Given the description of an element on the screen output the (x, y) to click on. 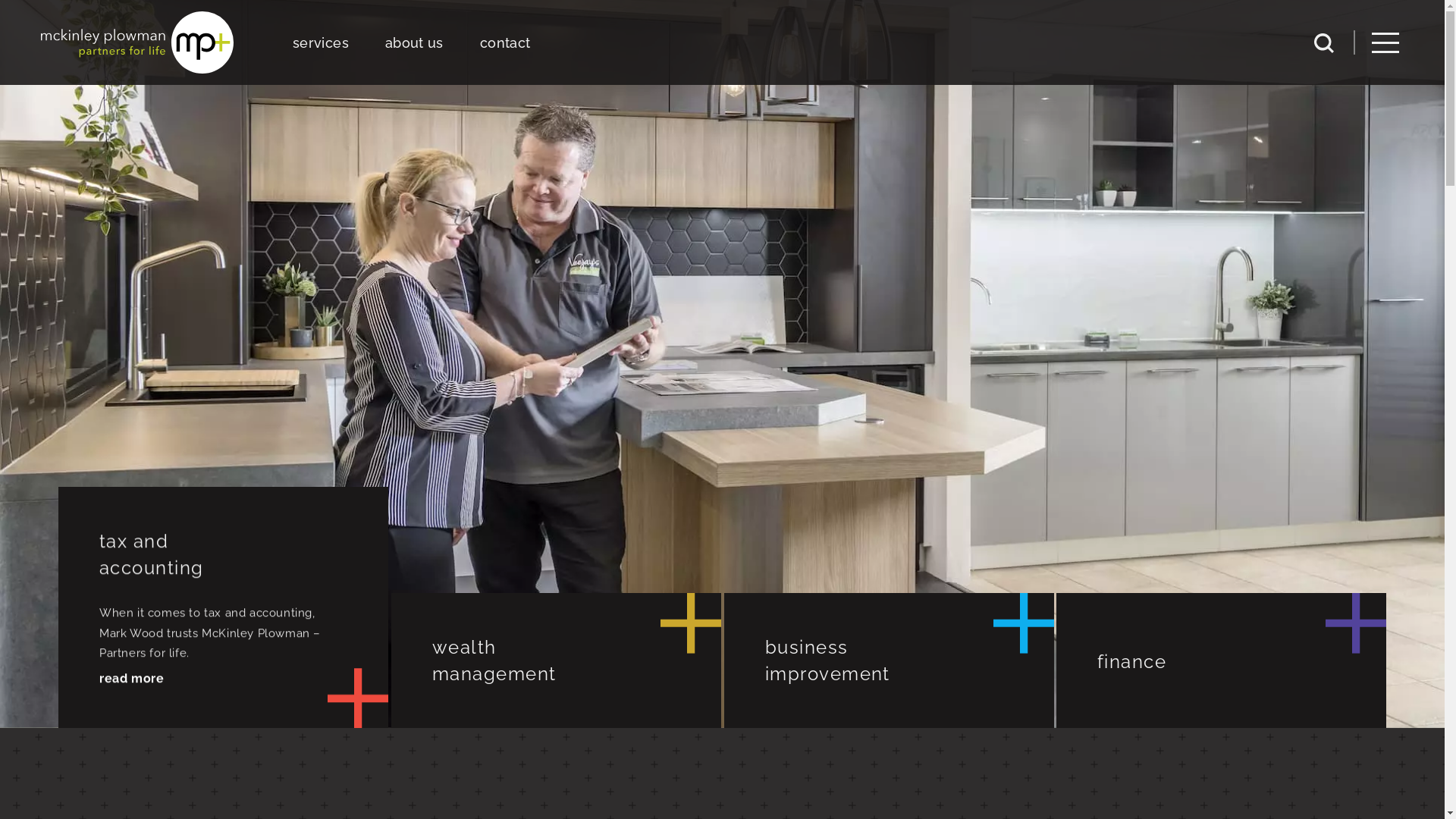
primary-menu-mobile Element type: hover (1385, 42)
read more Element type: text (131, 679)
about us Element type: text (414, 41)
services Element type: text (320, 41)
contact Element type: text (505, 41)
